Given the description of an element on the screen output the (x, y) to click on. 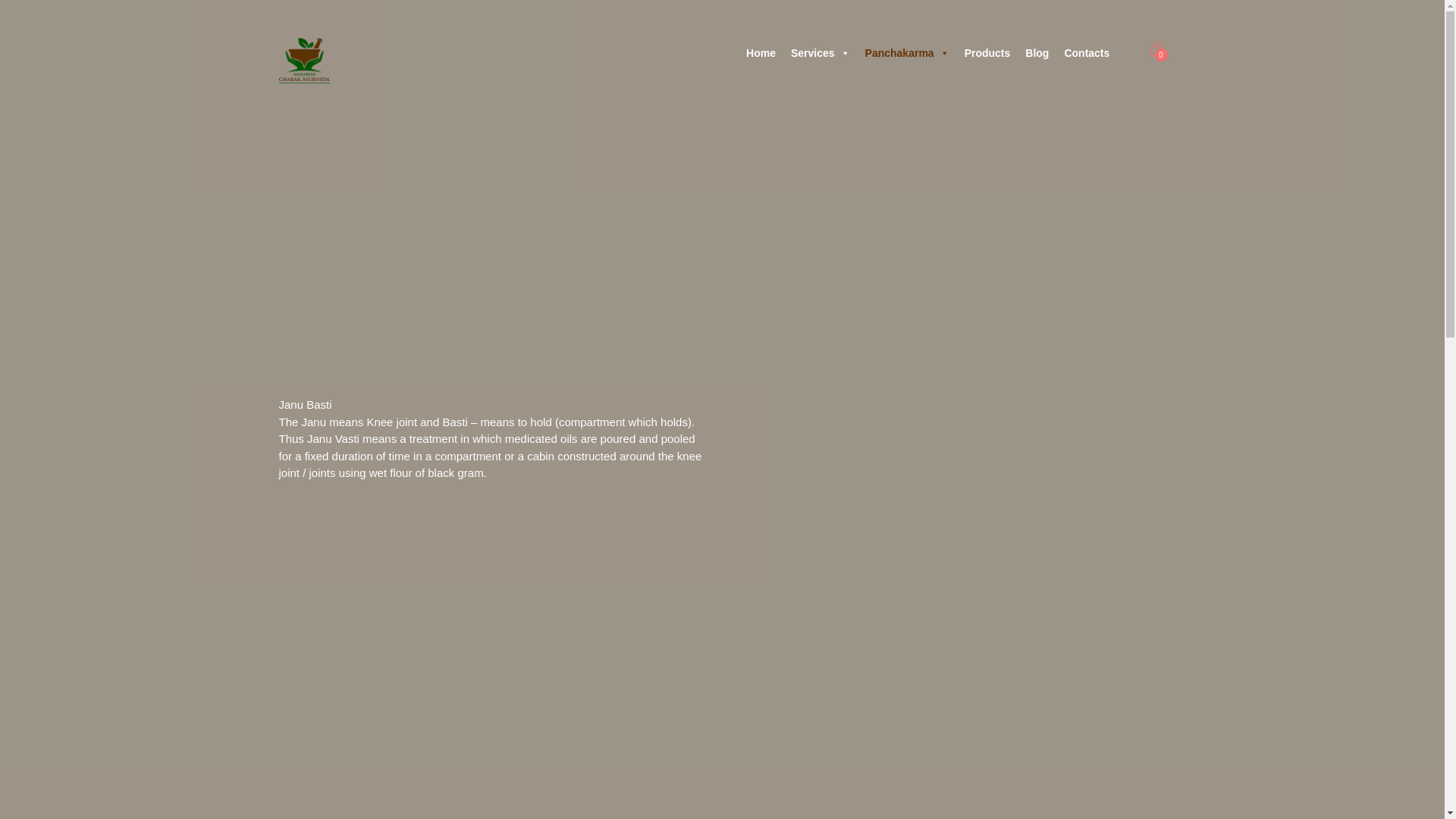
Home (760, 52)
Services (820, 52)
Panchakarma (906, 52)
